Given the description of an element on the screen output the (x, y) to click on. 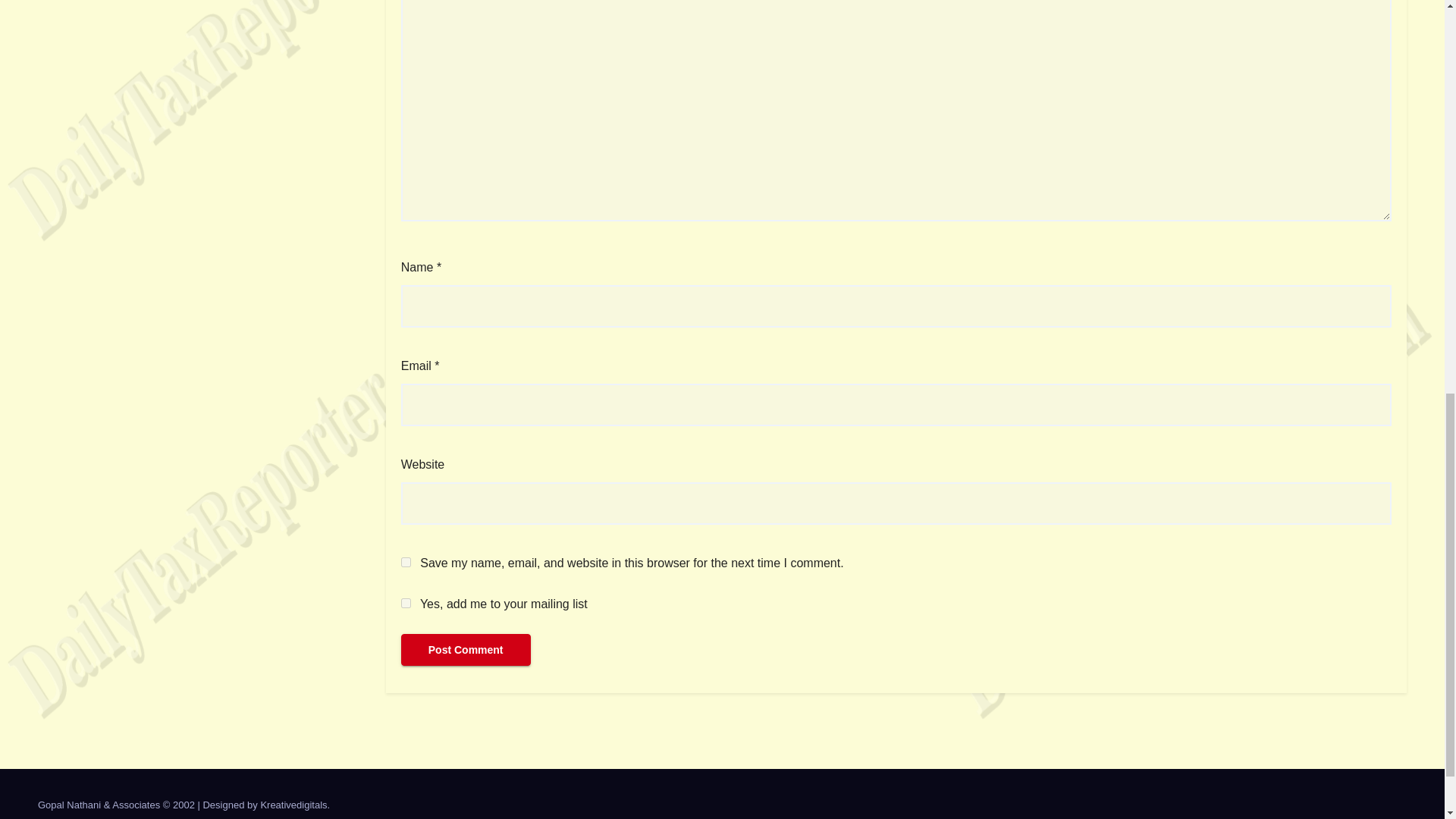
yes (405, 562)
Post Comment (466, 649)
1 (405, 603)
